Given the description of an element on the screen output the (x, y) to click on. 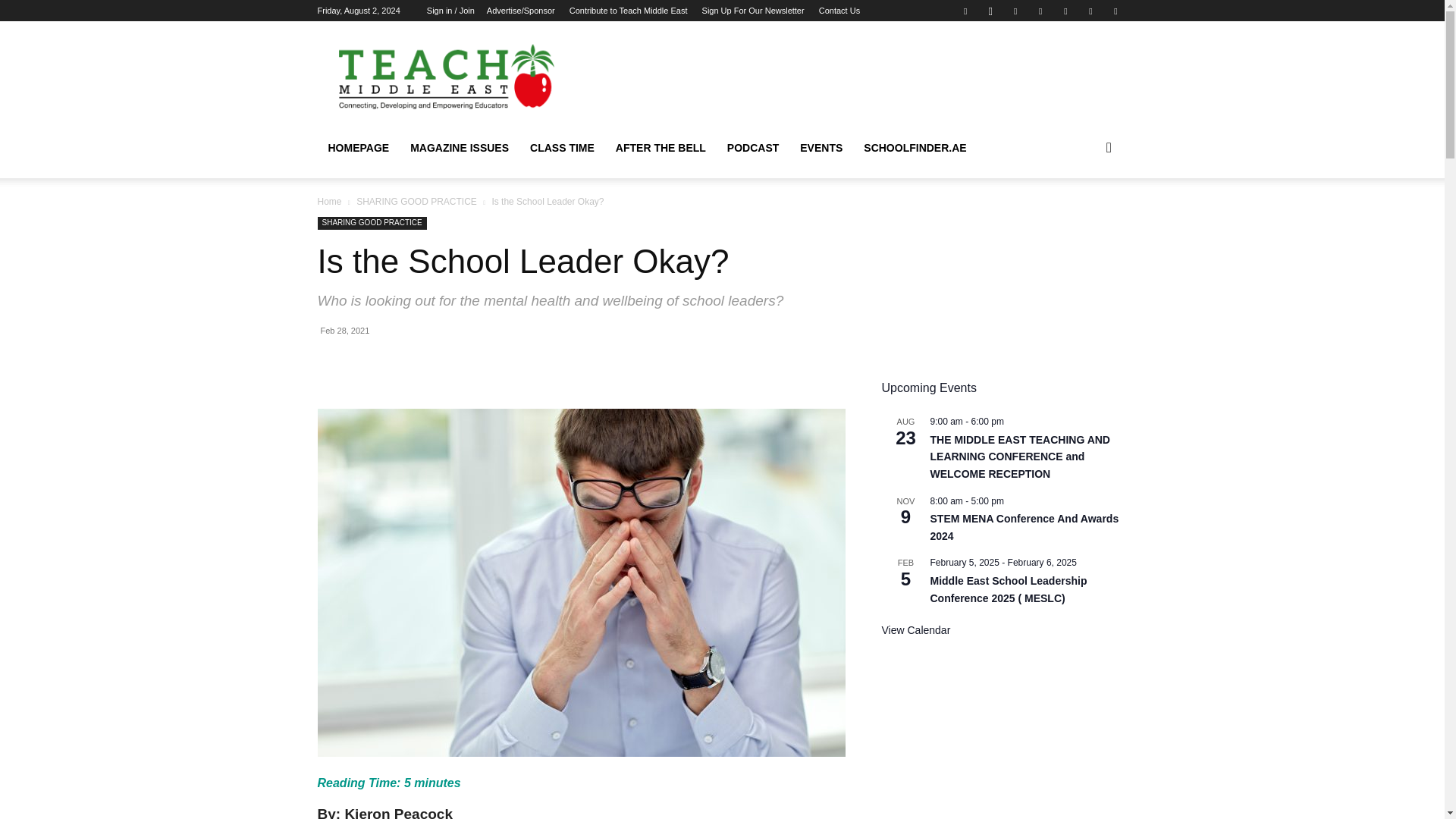
Linkedin (1015, 10)
Twitter (1040, 10)
Instagram (989, 10)
Facebook (964, 10)
